Given the description of an element on the screen output the (x, y) to click on. 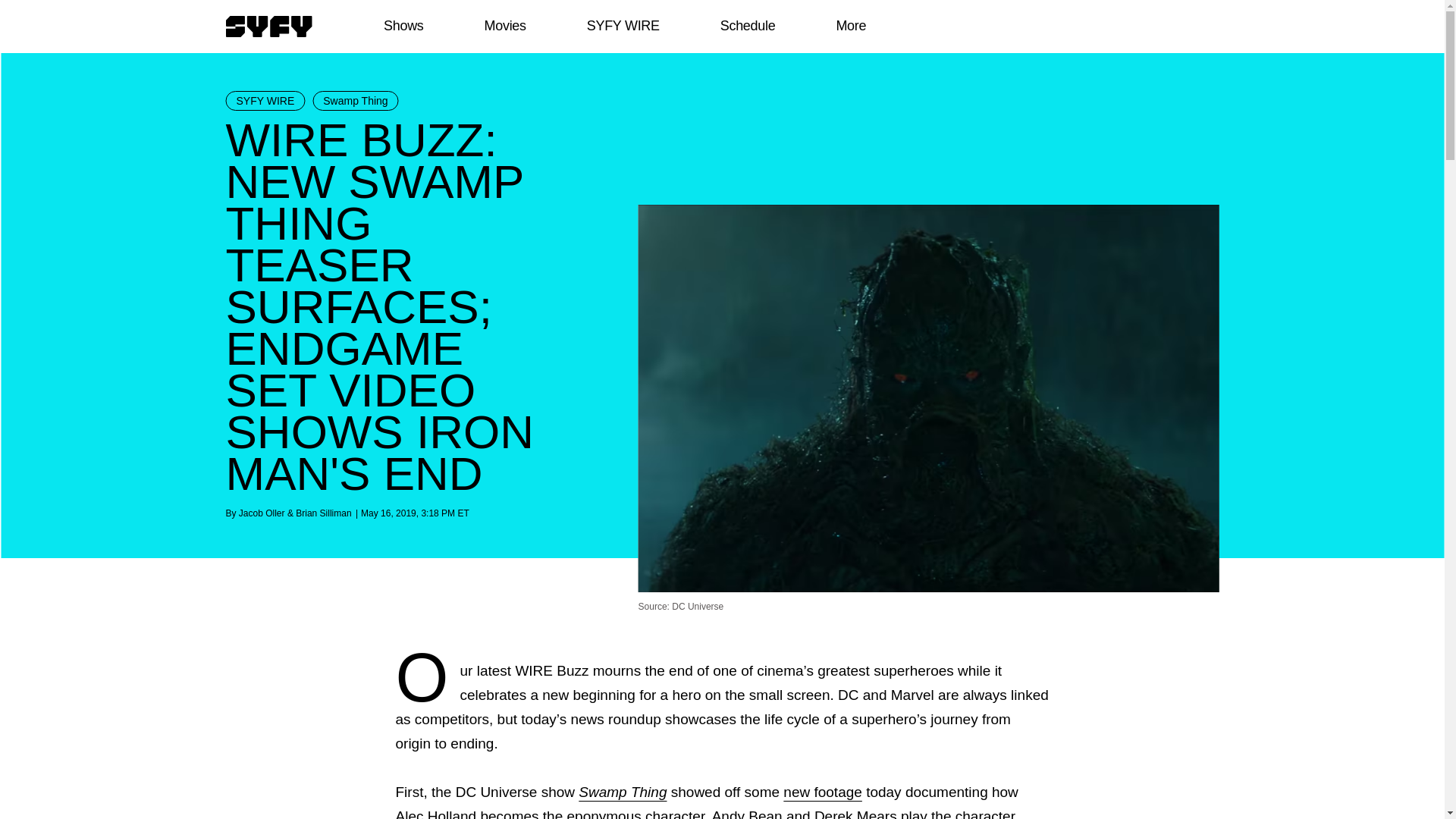
new footage (822, 791)
More (850, 26)
Brian Silliman (322, 512)
Jacob Oller (261, 512)
Movies (504, 26)
Schedule (746, 26)
Shows (403, 26)
SYFY WIRE (265, 100)
SYFY WIRE (622, 26)
Swamp Thing (622, 791)
Swamp Thing (355, 100)
